Given the description of an element on the screen output the (x, y) to click on. 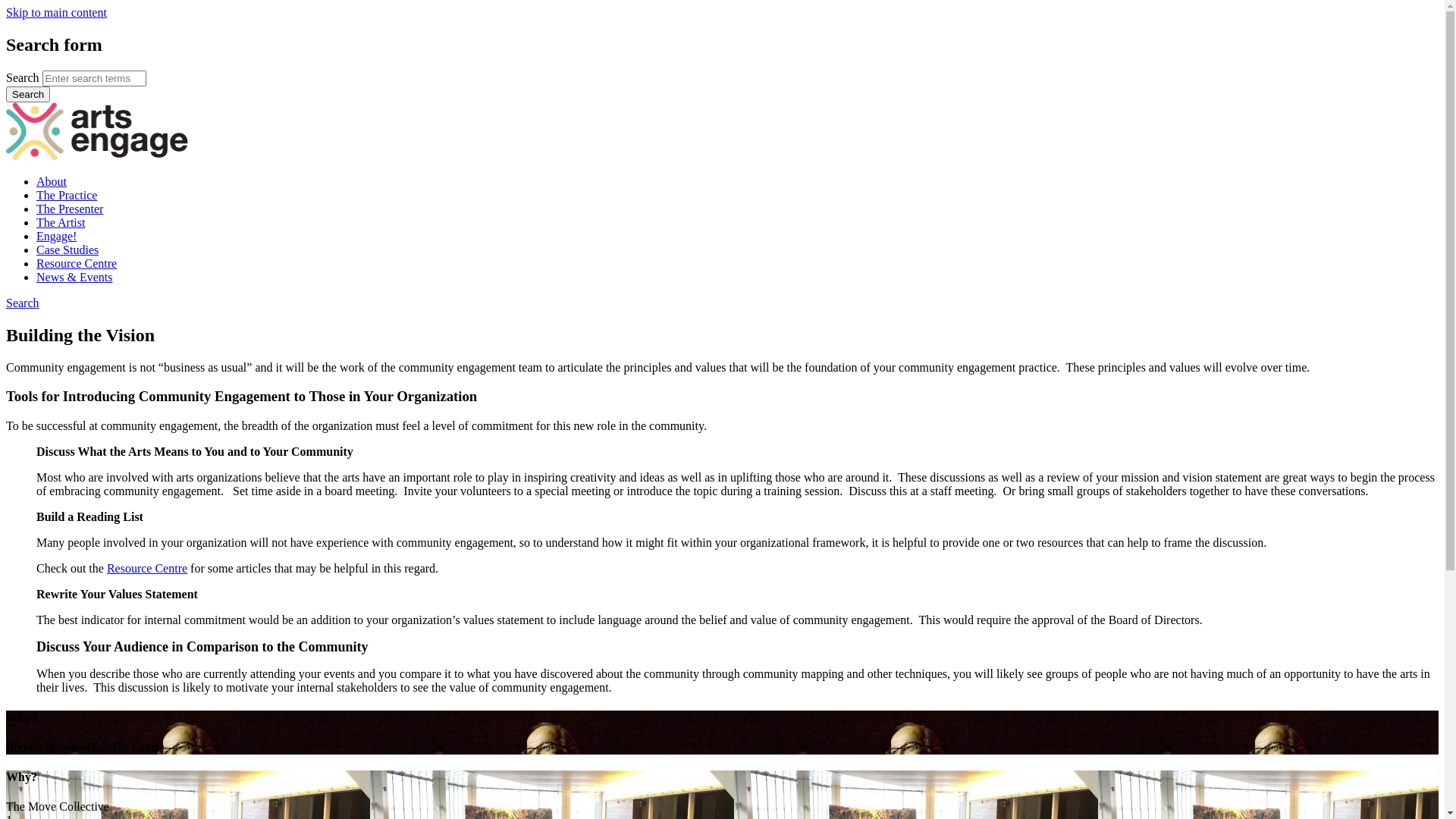
Home Element type: hover (97, 155)
The Practice Element type: text (66, 194)
News & Events Element type: text (74, 276)
Enter the terms you wish to search for. Element type: hover (94, 78)
The Presenter Element type: text (69, 208)
Search Element type: text (22, 302)
Search Element type: text (28, 94)
Skip to main content Element type: text (56, 12)
Engage! Element type: text (56, 235)
Case Studies Element type: text (67, 249)
Resource Centre Element type: text (146, 567)
The Artist Element type: text (60, 222)
About Element type: text (51, 181)
Resource Centre Element type: text (76, 263)
